Given the description of an element on the screen output the (x, y) to click on. 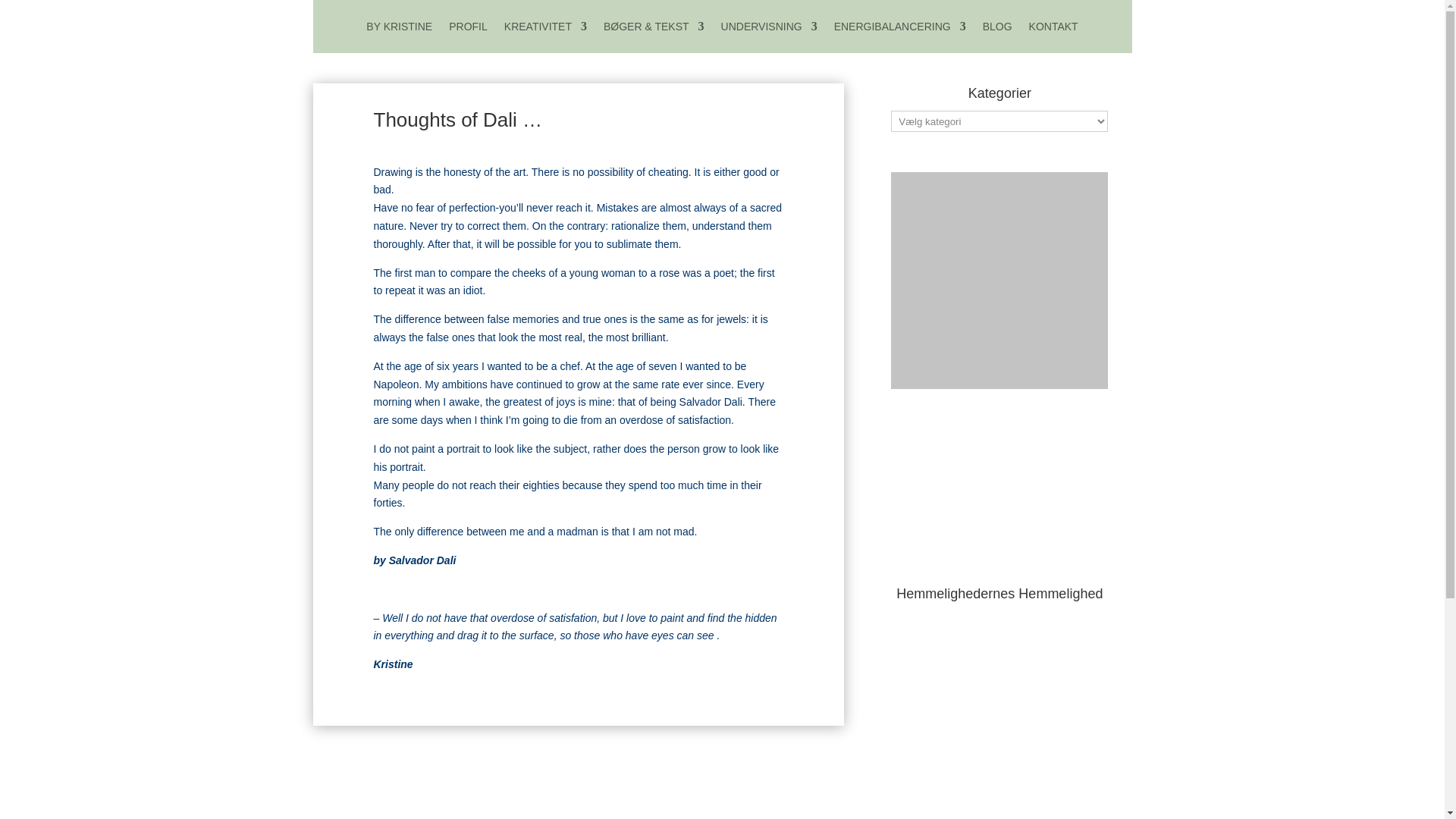
BLOG (996, 29)
Hemmelighedernes hemmelighed (999, 488)
BY KRISTINE (399, 29)
UNDERVISNING (768, 29)
KREATIVITET (544, 29)
Se dig omkring og giv evt. en kommentar. (996, 29)
ENERGIBALANCERING (900, 29)
KONTAKT (1053, 29)
PROFIL (467, 29)
